Given the description of an element on the screen output the (x, y) to click on. 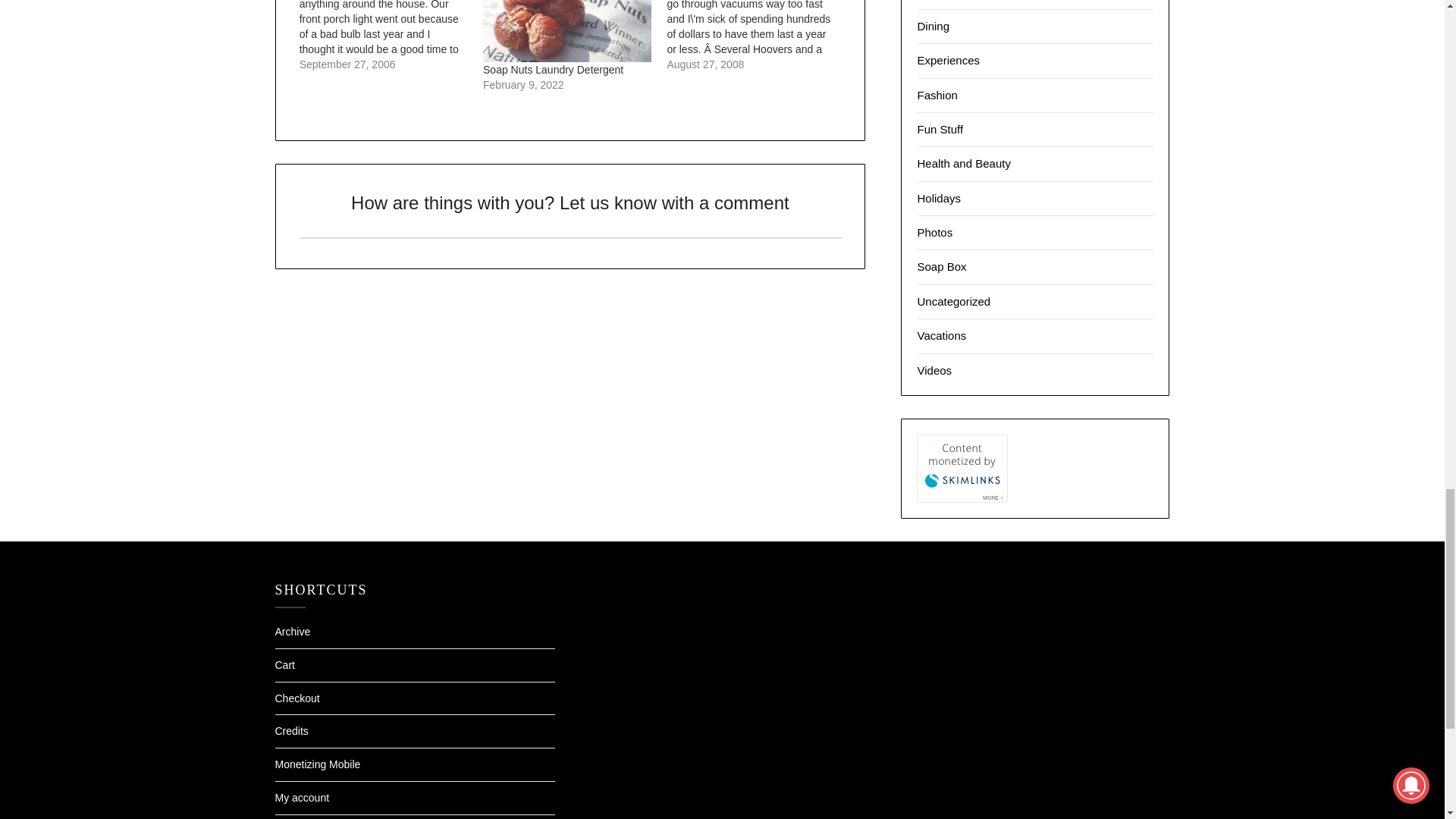
Dining (933, 25)
Fun Stuff (939, 128)
Fashion (936, 94)
Soap Nuts Laundry Detergent (553, 69)
Experiences (948, 60)
Soap Nuts Laundry Detergent (553, 69)
Soap Nuts Laundry Detergent (566, 31)
what is the best vacuum? (758, 36)
